Given the description of an element on the screen output the (x, y) to click on. 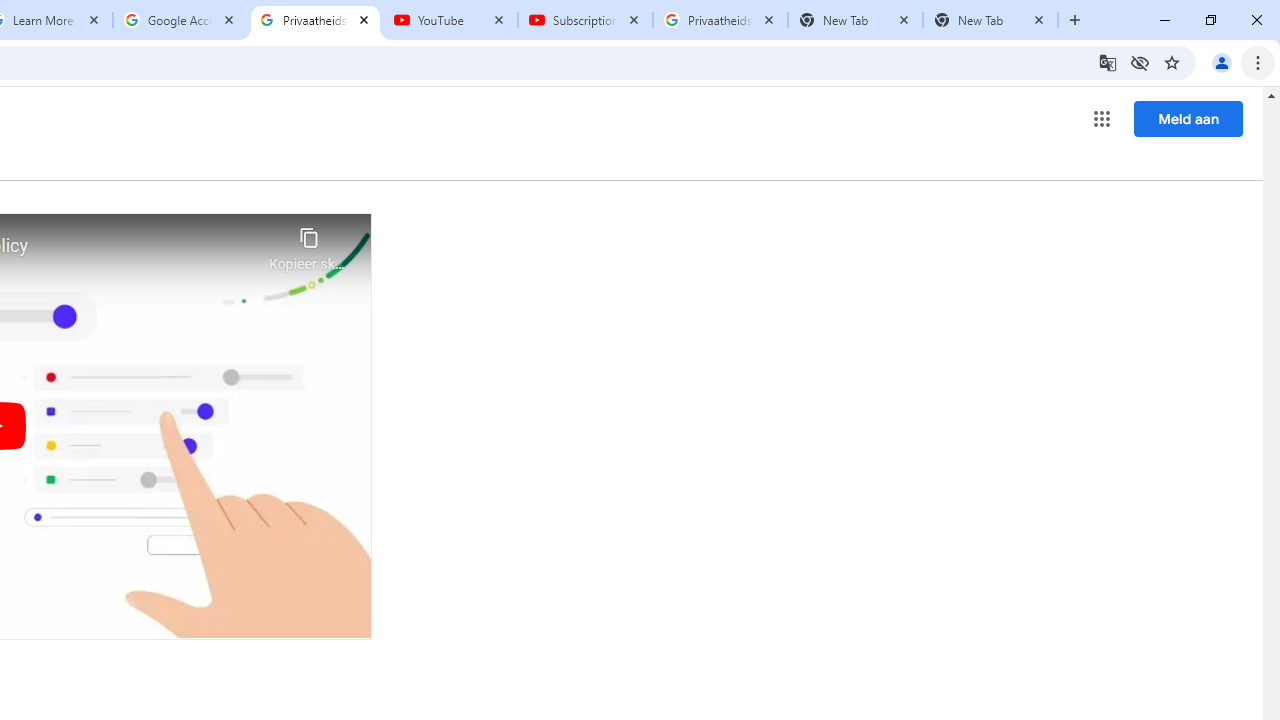
Google-programme (1101, 118)
Google Account (180, 20)
Translate this page (1107, 62)
